Given the description of an element on the screen output the (x, y) to click on. 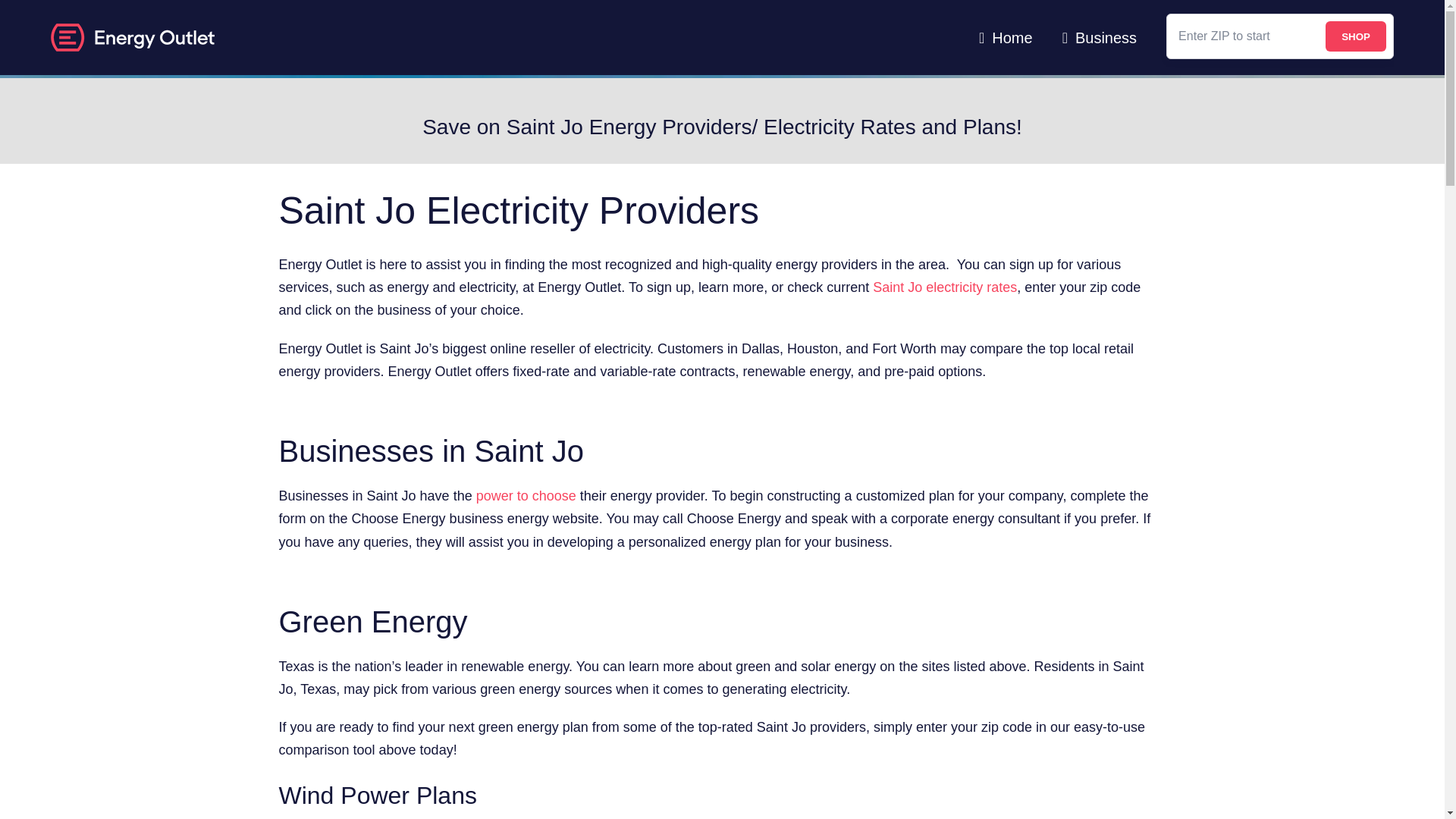
power to choose (526, 495)
Saint Jo electricity rates (944, 287)
Commercial Energy Plans (1099, 37)
Business (1099, 37)
SHOP (1355, 36)
SHOP (1355, 36)
